Given the description of an element on the screen output the (x, y) to click on. 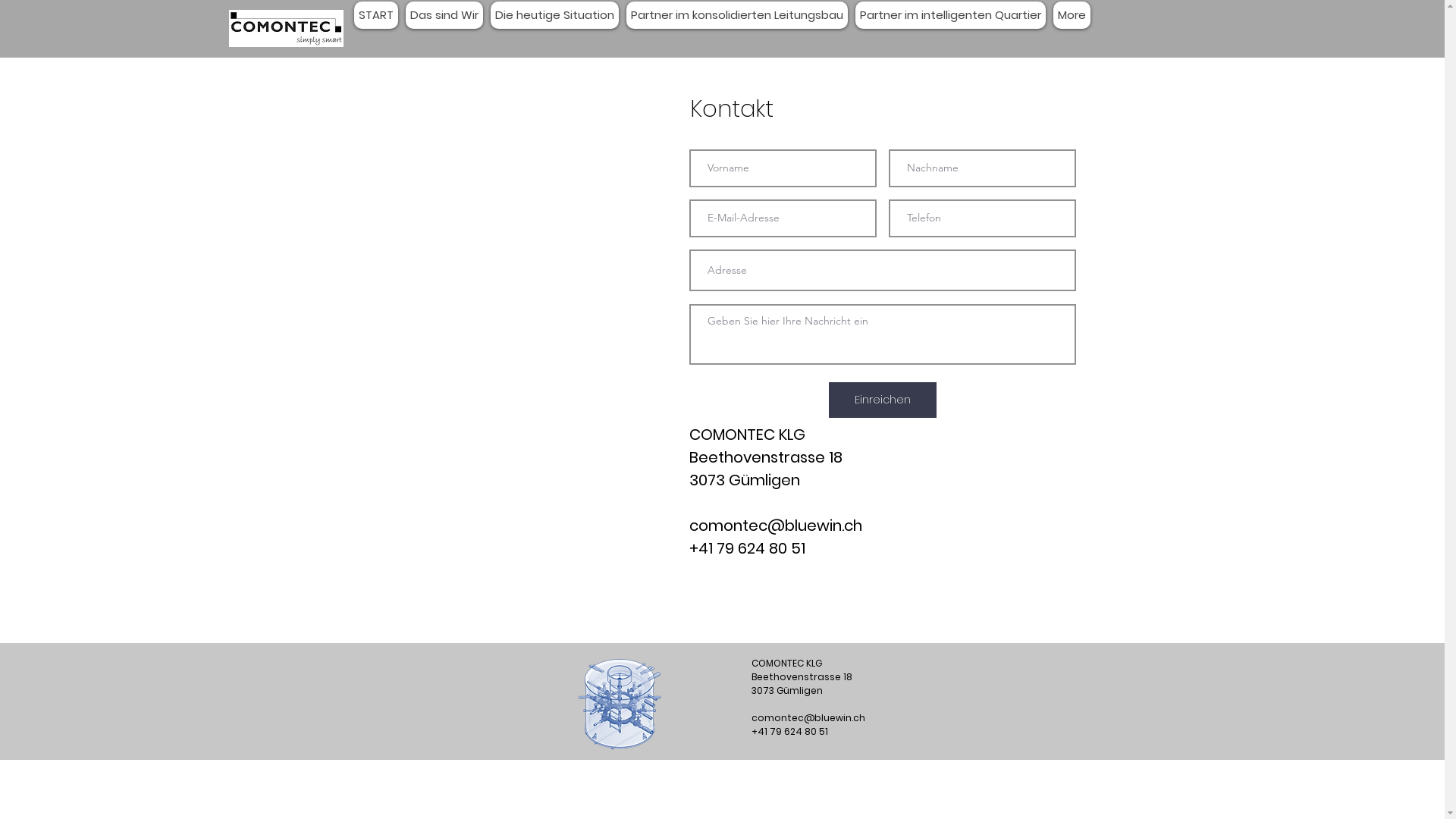
Einreichen Element type: text (881, 399)
START Element type: text (375, 14)
comontec@bluewin.ch Element type: text (807, 717)
Das sind Wir Element type: text (443, 14)
Partner im konsolidierten Leitungsbau Element type: text (736, 14)
Partner im intelligenten Quartier Element type: text (950, 14)
Google Maps Element type: hover (512, 310)
Die heutige Situation Element type: text (553, 14)
comontec@bluewin.ch Element type: text (774, 525)
